Given the description of an element on the screen output the (x, y) to click on. 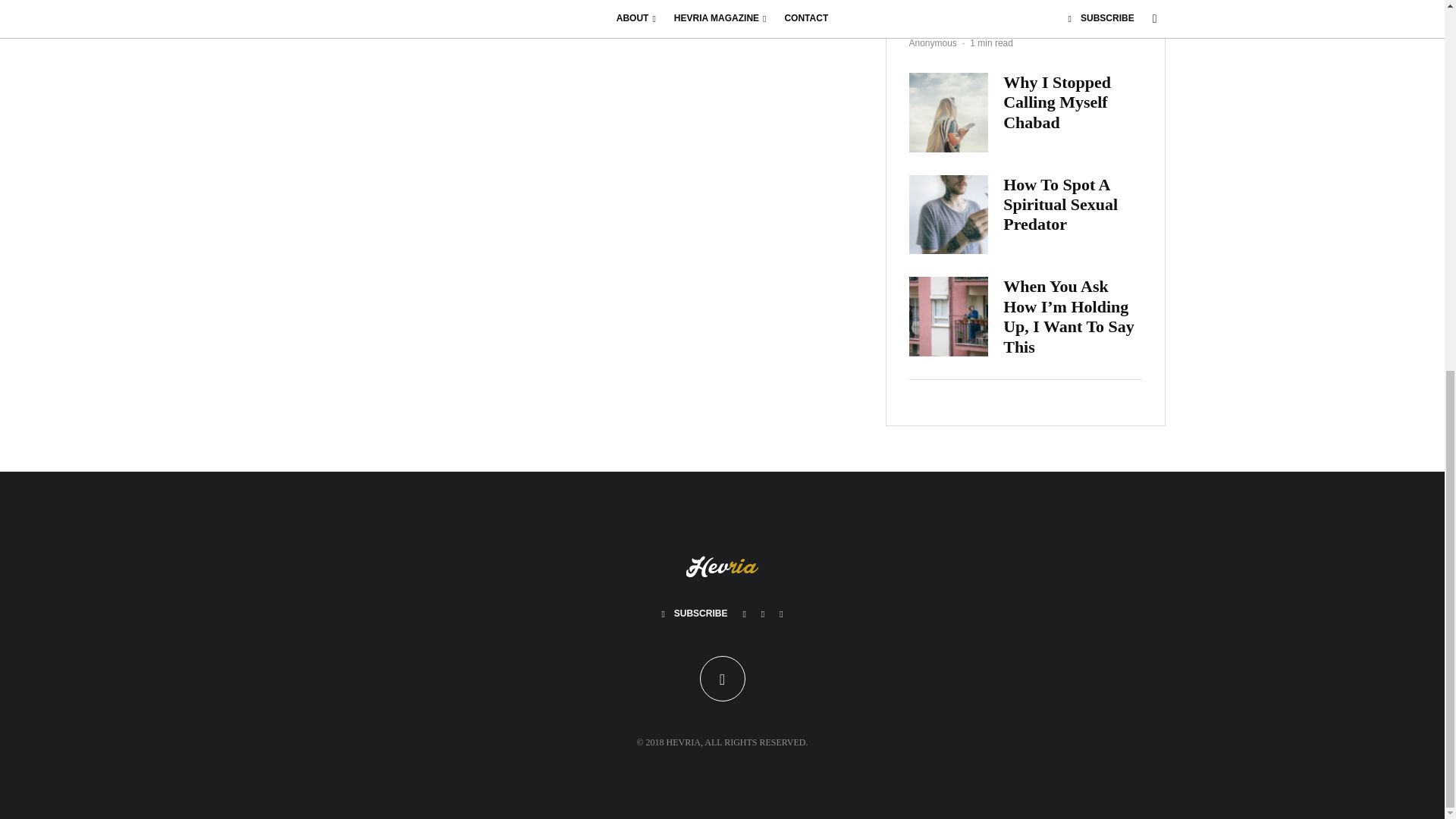
Anonymous (932, 42)
The Boogeyman Of Belonging (981, 18)
